Given the description of an element on the screen output the (x, y) to click on. 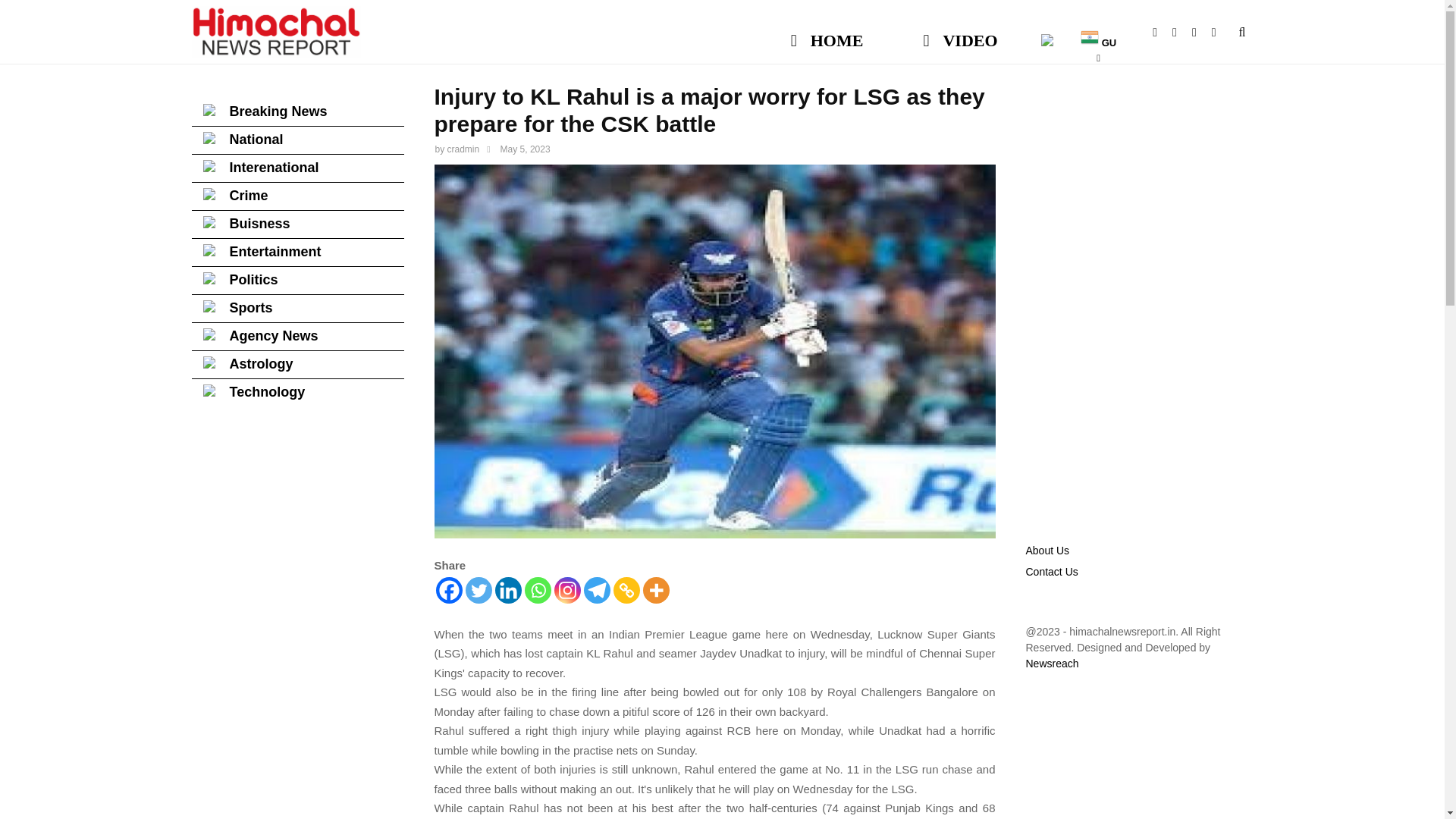
Facebook (1162, 31)
Whatsapp (537, 590)
GU (1098, 33)
HOME (826, 33)
Facebook (448, 590)
VIDEO (960, 33)
Instagram (566, 590)
Whatsapp (1221, 31)
Copy Link (625, 590)
Email (1201, 31)
Twitter (478, 590)
Telegram (596, 590)
Youtube (1182, 31)
Gujarati (1098, 33)
cradmin (463, 149)
